Given the description of an element on the screen output the (x, y) to click on. 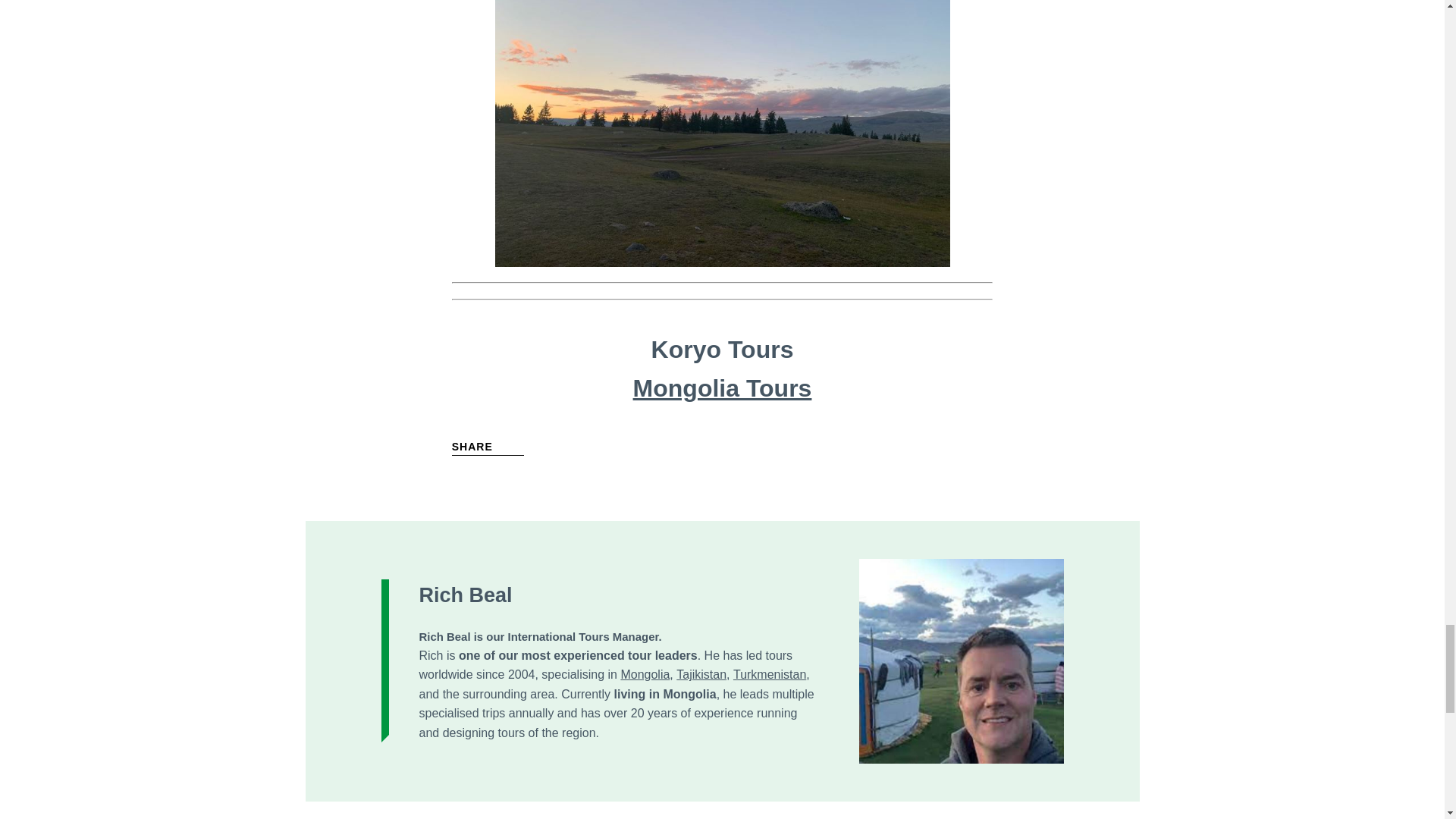
Twitter (459, 480)
